Given the description of an element on the screen output the (x, y) to click on. 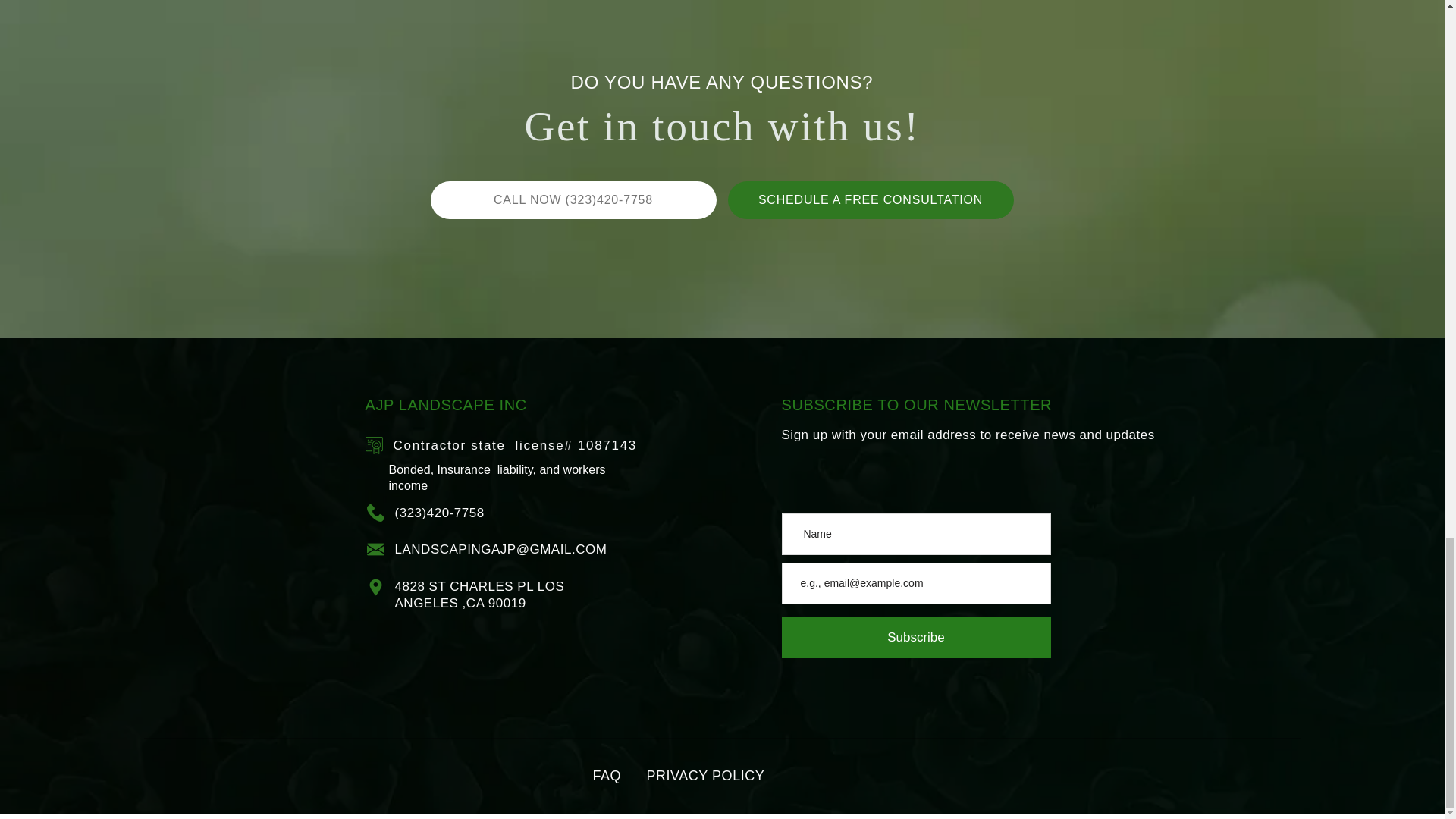
Subscribe (914, 637)
4828 ST CHARLES PL LOS ANGELES ,CA 90019 (479, 594)
SCHEDULE A FREE CONSULTATION (870, 199)
PRIVACY POLICY (705, 775)
FAQ (606, 775)
